Given the description of an element on the screen output the (x, y) to click on. 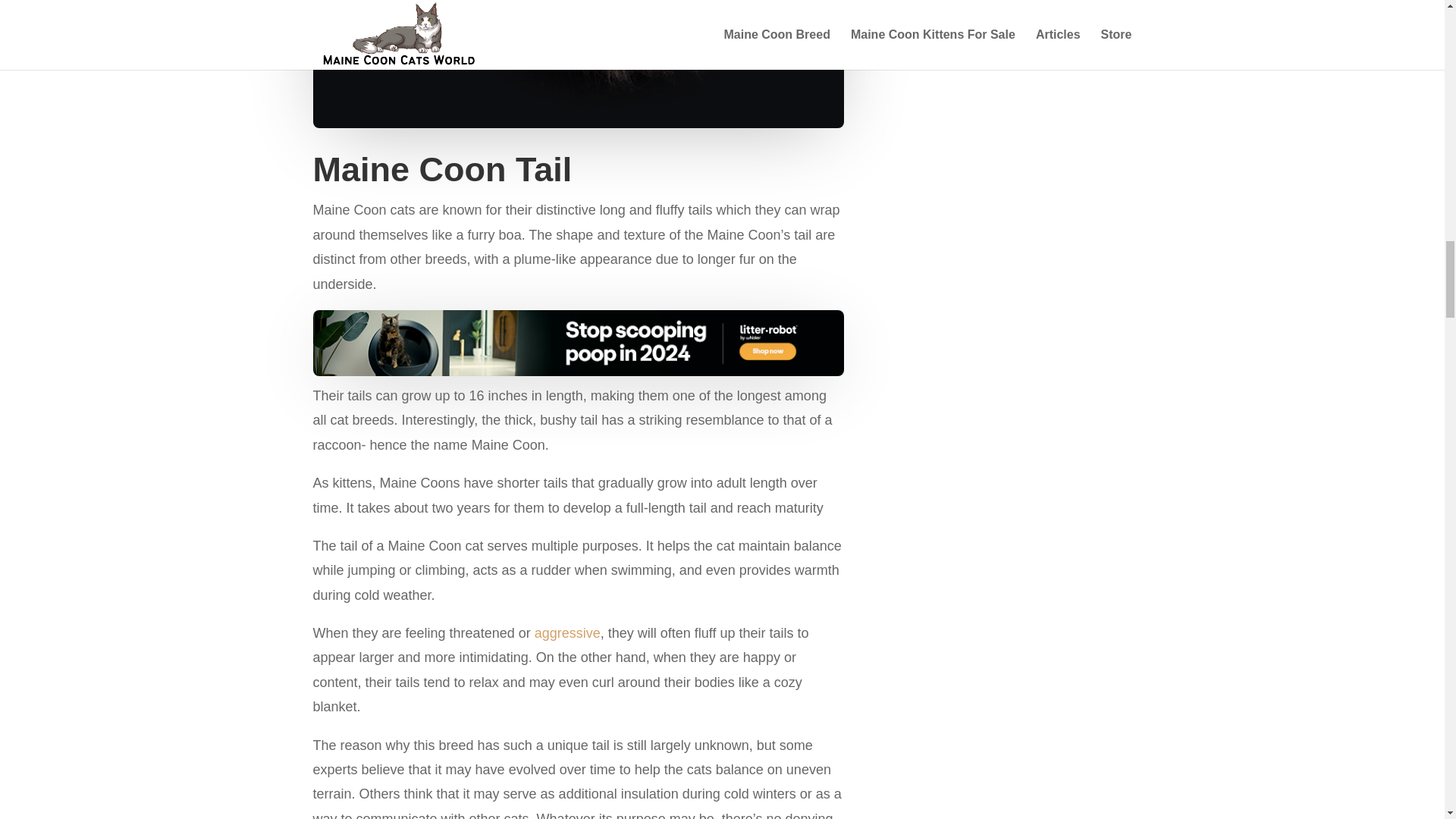
aggressive (566, 632)
aggressive (566, 632)
